Given the description of an element on the screen output the (x, y) to click on. 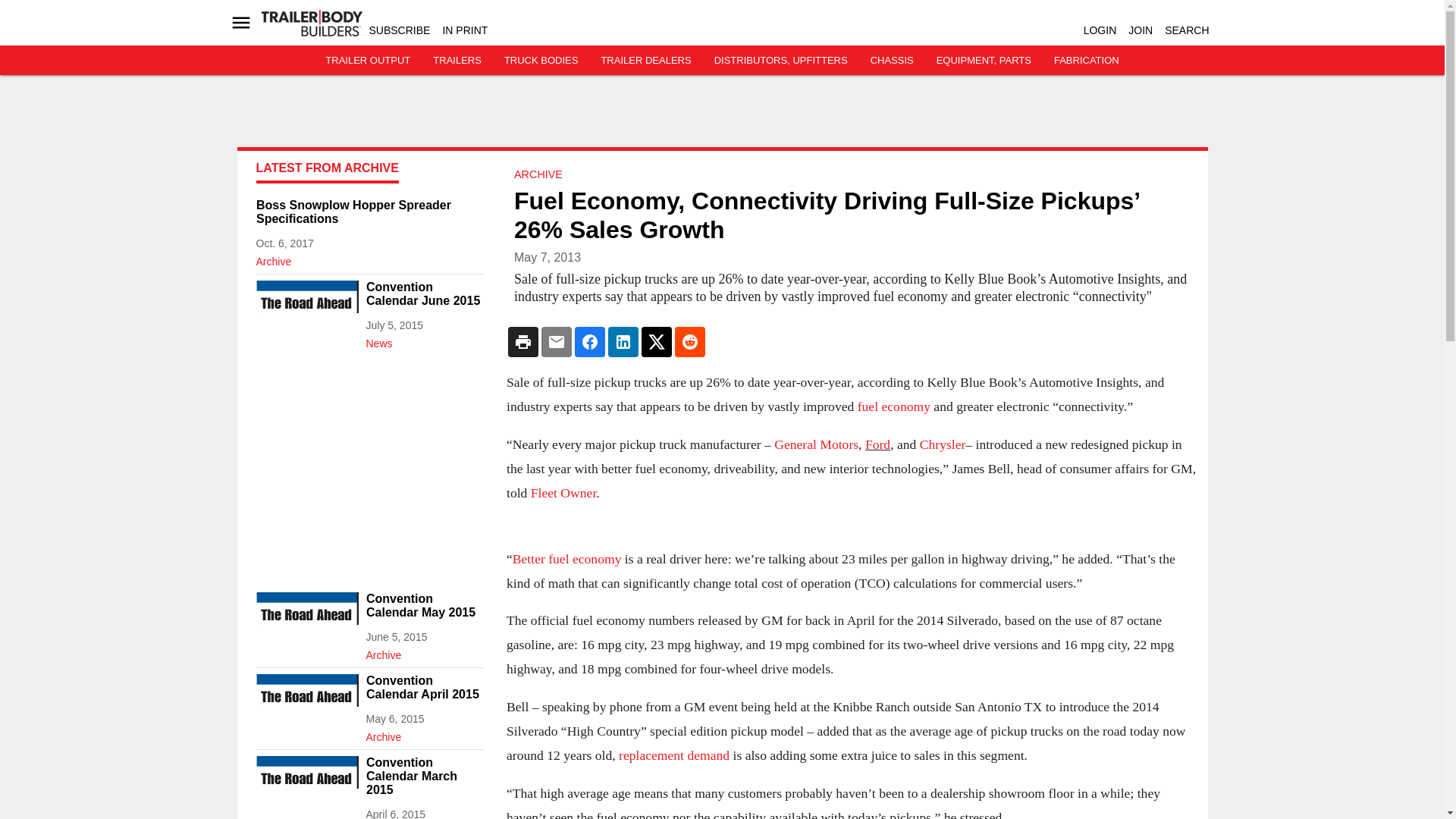
CHASSIS (892, 60)
TRAILER OUTPUT (367, 60)
IN PRINT (464, 30)
SUBSCRIBE (398, 30)
FABRICATION (1086, 60)
Image (307, 620)
TRUCK BODIES (540, 60)
SEARCH (1186, 30)
Archive (369, 258)
Boss Snowplow Hopper Spreader Specifications (369, 212)
